Given the description of an element on the screen output the (x, y) to click on. 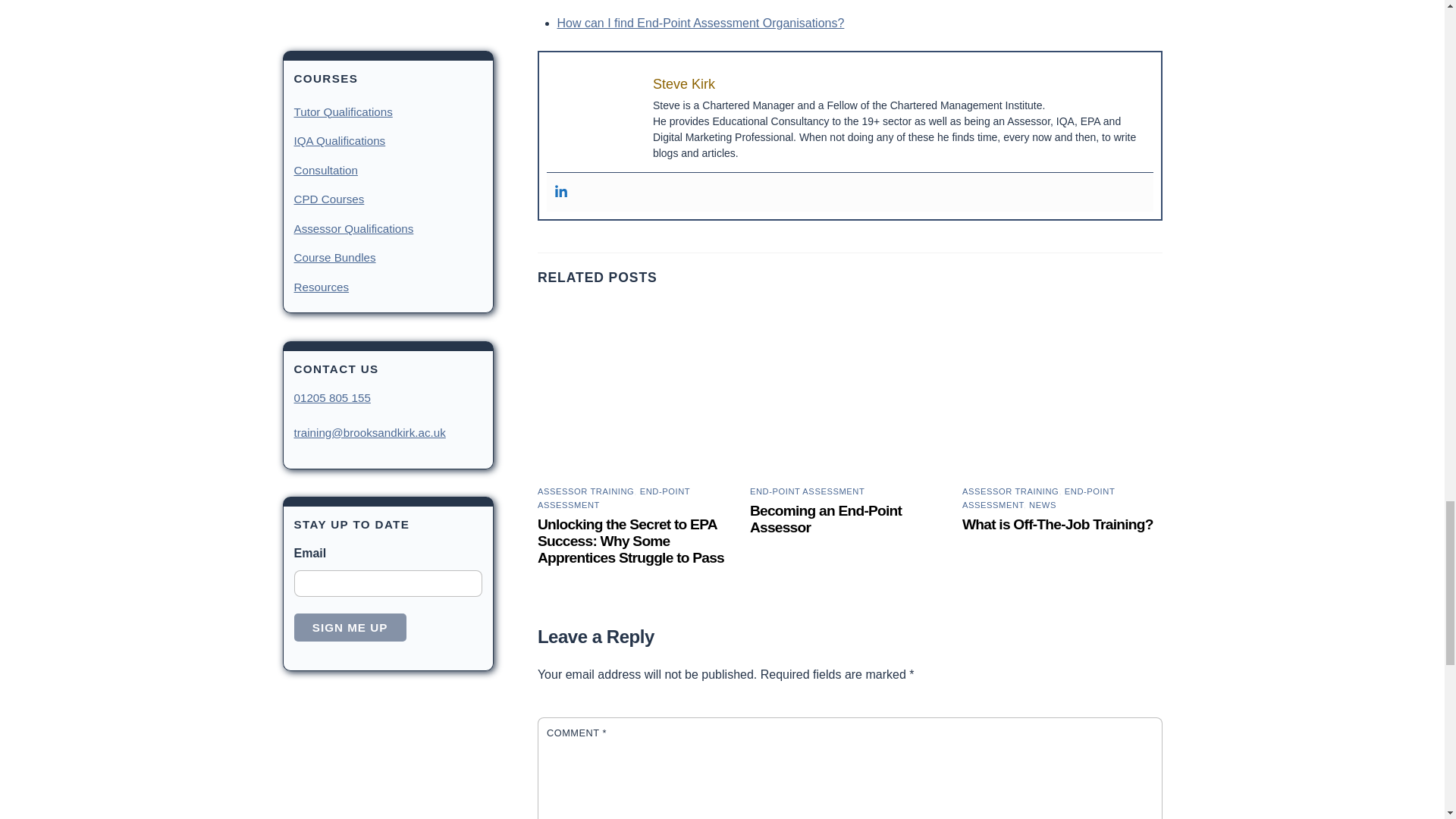
sarah-elizabeth-O3gOgPB4sRU-unsplash (849, 391)
man-at-desk-writing (1061, 391)
